Given the description of an element on the screen output the (x, y) to click on. 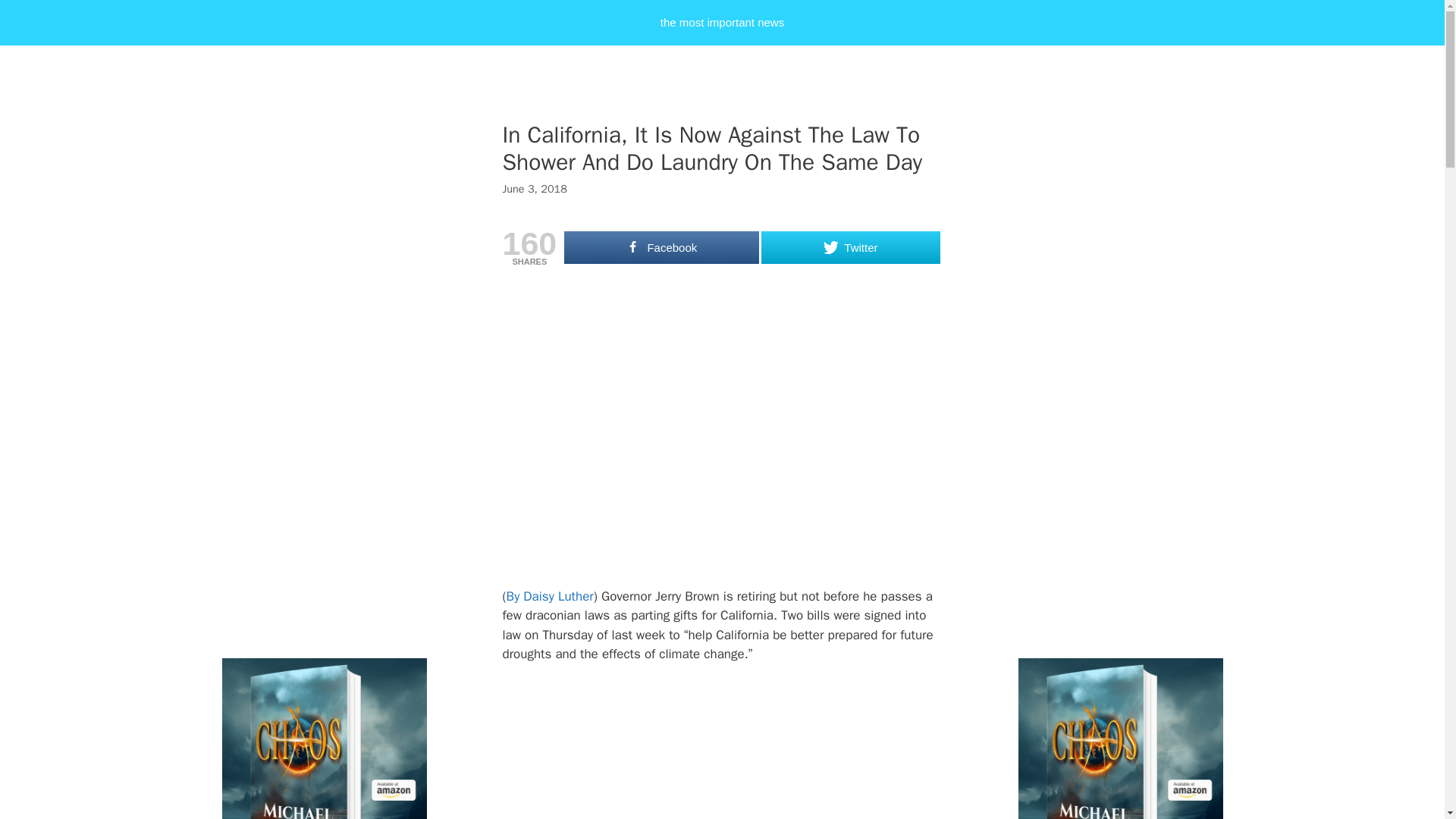
Twitter (850, 246)
the most important news (722, 22)
Facebook (661, 246)
Twitter (850, 246)
By Daisy Luther (550, 596)
By Daisy Luther (550, 596)
the most important news (722, 22)
Facebook (661, 246)
